Given the description of an element on the screen output the (x, y) to click on. 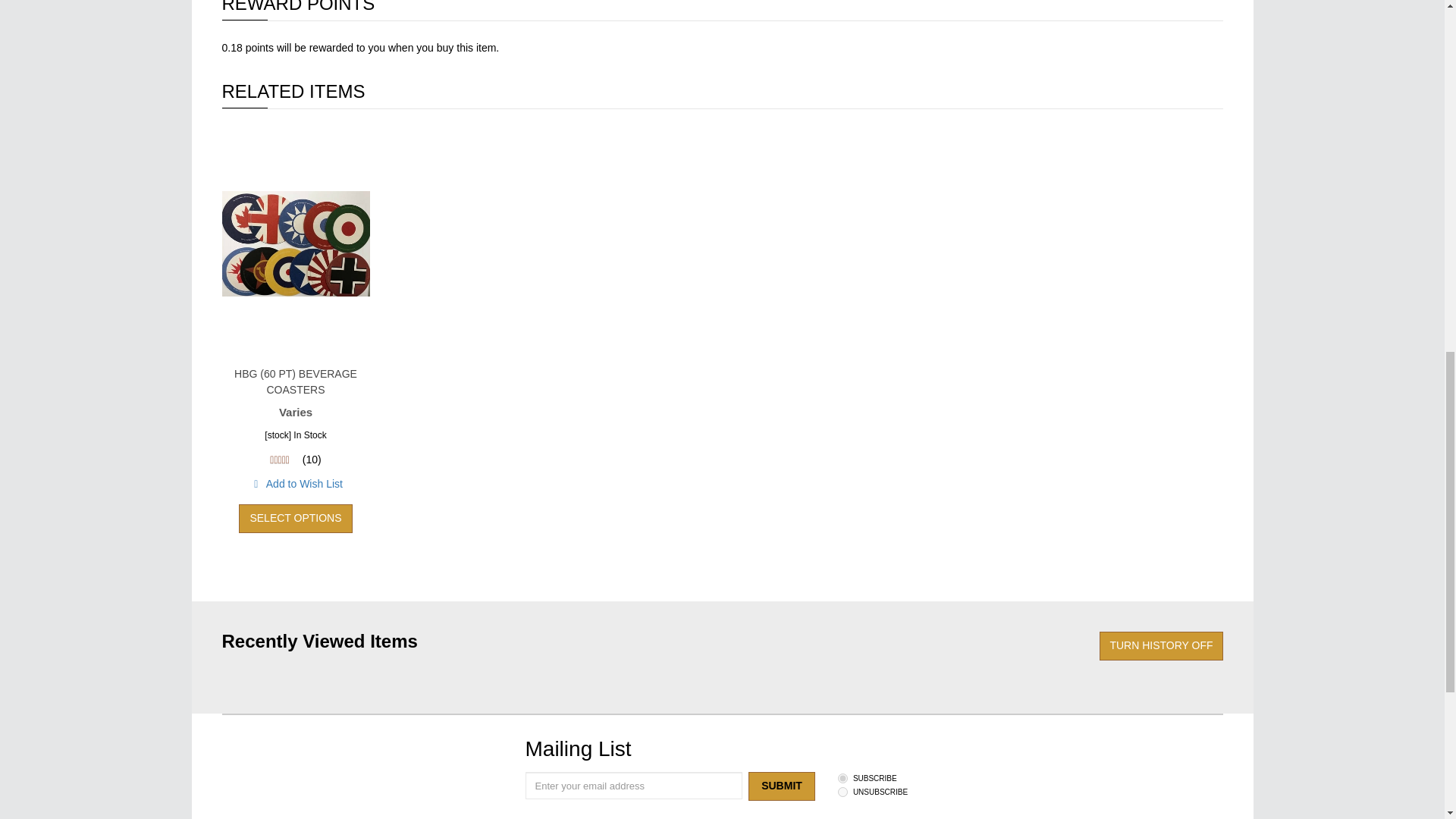
1 (842, 777)
0 (842, 791)
